Given the description of an element on the screen output the (x, y) to click on. 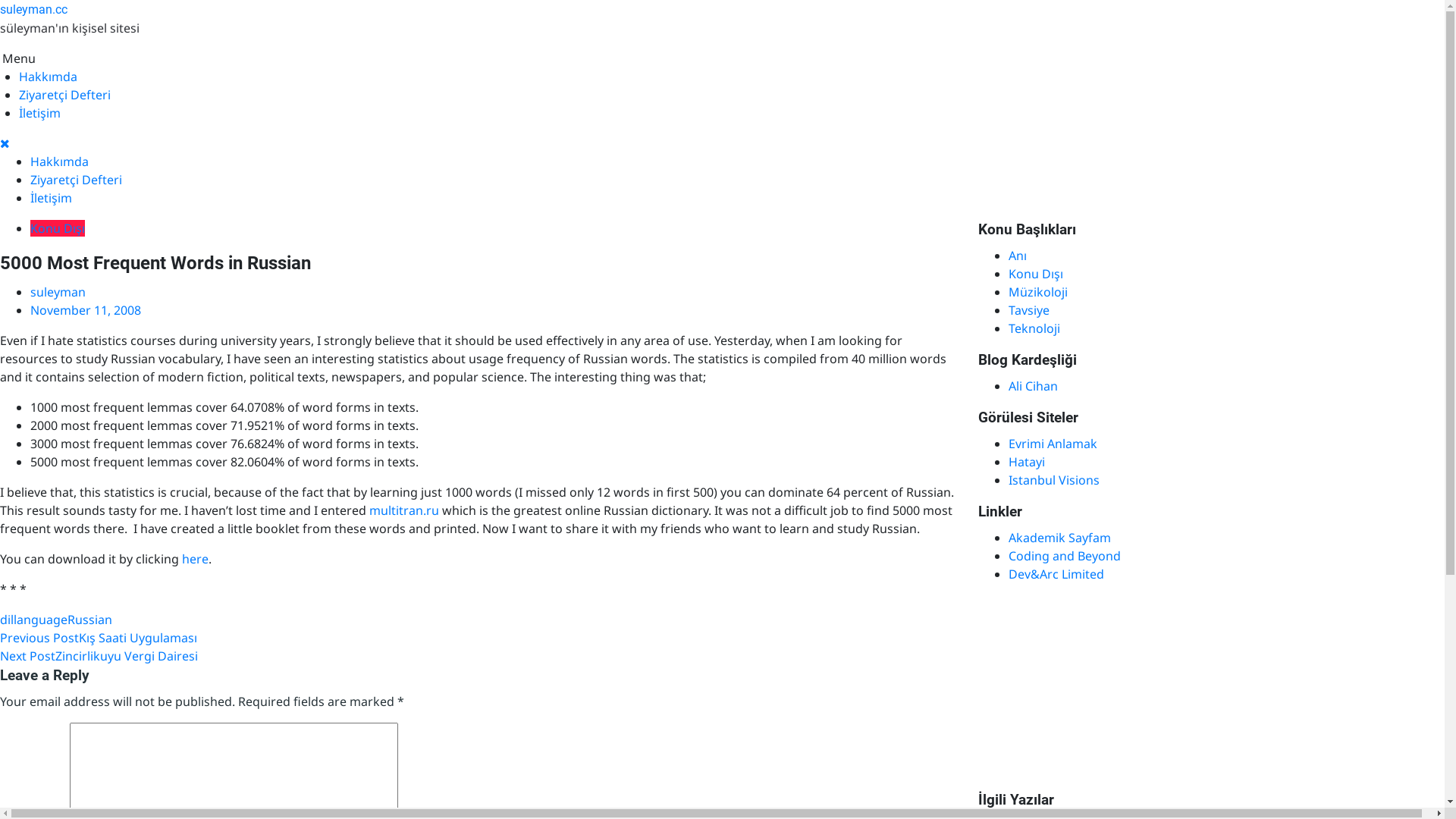
Evrimi Anlamak Element type: text (1052, 443)
Akademik Sayfam Element type: text (1059, 537)
November 11, 2008 Element type: text (85, 309)
Coding and Beyond Element type: text (1064, 555)
dil Element type: text (6, 619)
suleyman.cc Element type: text (33, 9)
Next PostZincirlikuyu Vergi Dairesi Element type: text (98, 655)
multitran.ru Element type: text (404, 510)
suleyman Element type: text (57, 291)
Ali Cihan Element type: text (1032, 385)
Dev&Arc Limited Element type: text (1056, 573)
Tavsiye Element type: text (1028, 309)
Teknoloji Element type: text (1034, 328)
Hatayi Element type: text (1026, 461)
Russian Element type: text (89, 619)
here Element type: text (195, 558)
language Element type: text (40, 619)
Istanbul Visions Element type: text (1053, 479)
